Given the description of an element on the screen output the (x, y) to click on. 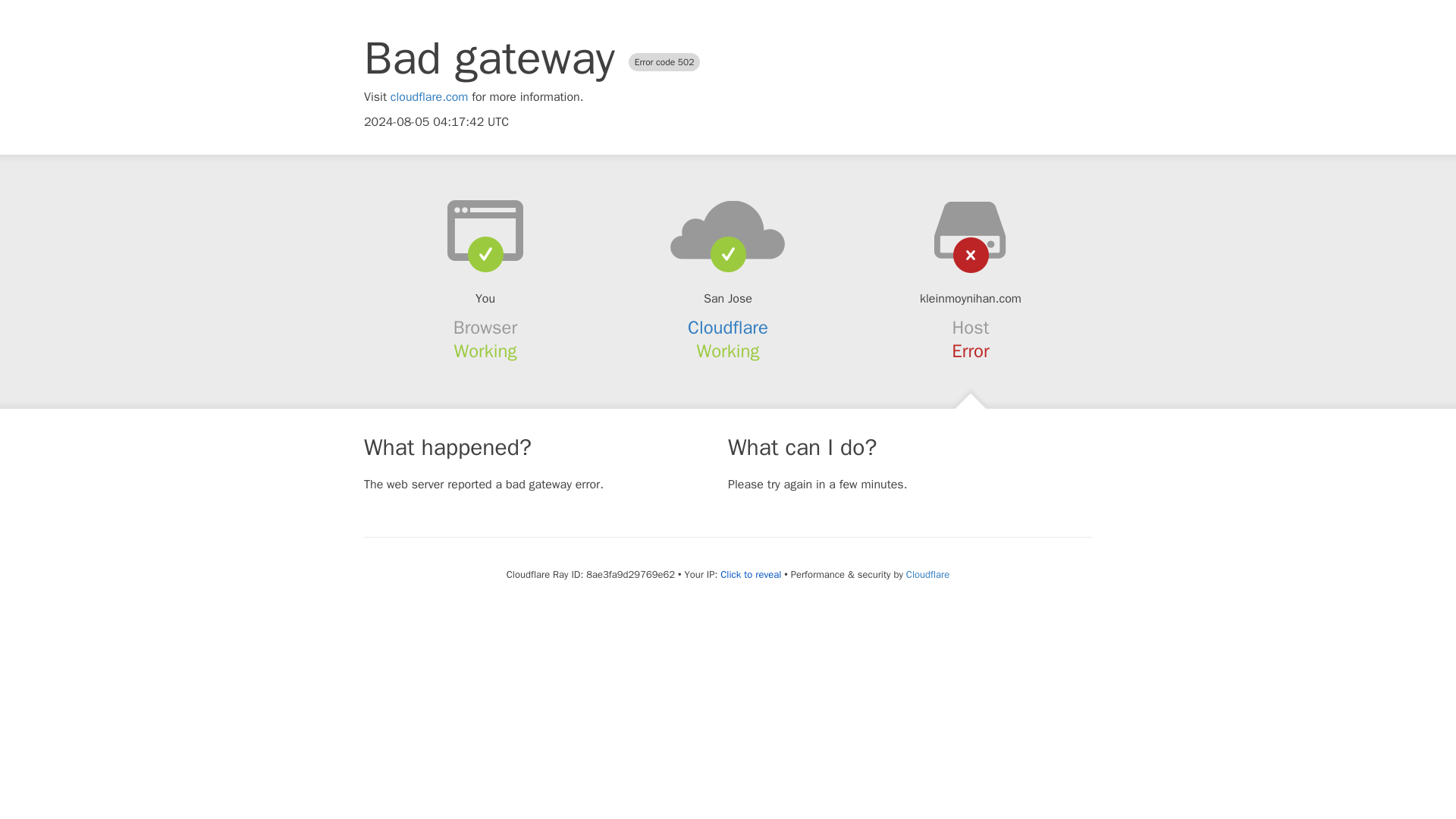
Cloudflare (927, 574)
cloudflare.com (429, 96)
Cloudflare (727, 327)
Click to reveal (750, 574)
